Given the description of an element on the screen output the (x, y) to click on. 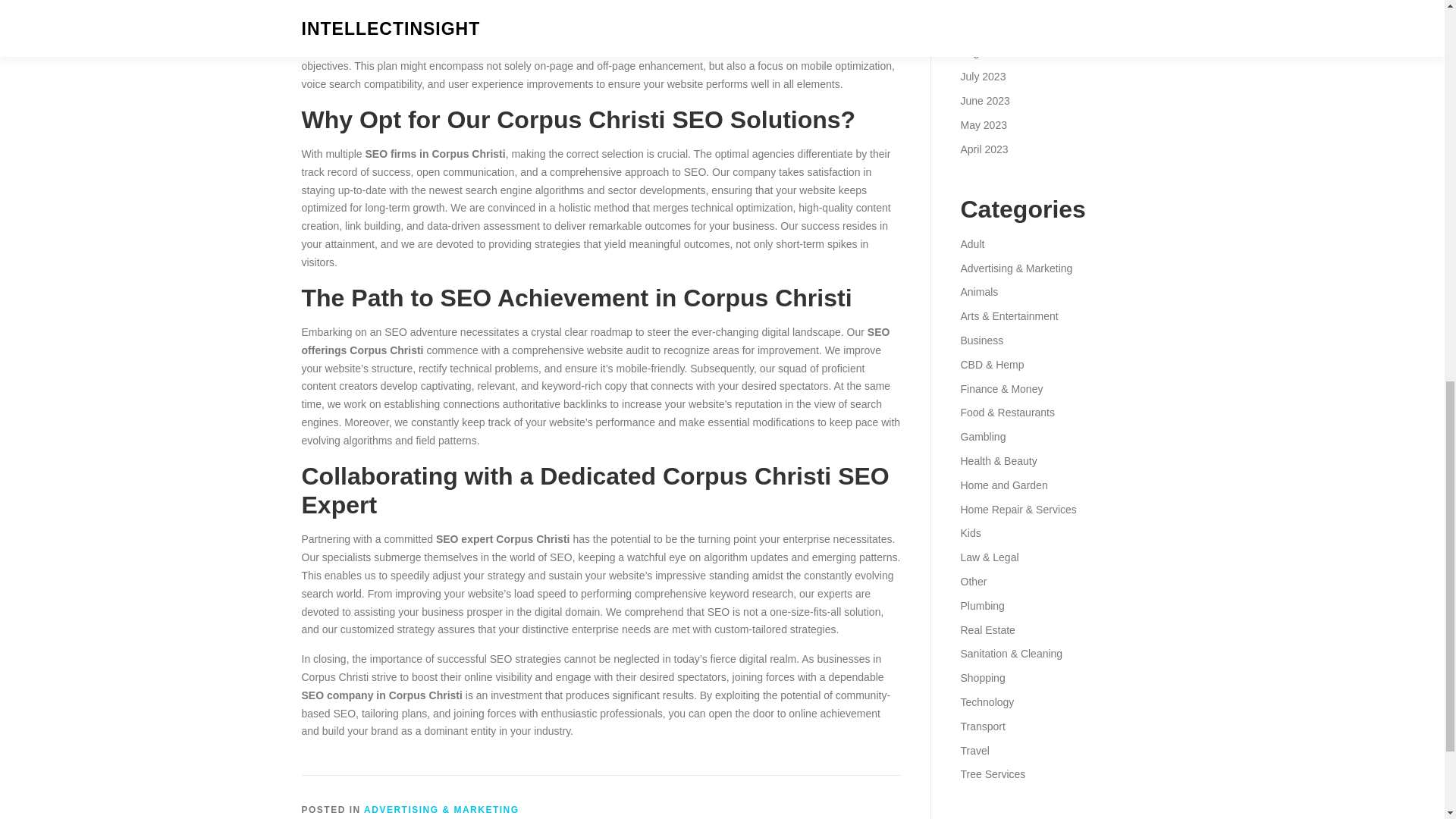
May 2023 (982, 124)
Business (981, 340)
September 2023 (999, 28)
October 2023 (992, 5)
Animals (978, 291)
April 2023 (983, 149)
Adult (971, 244)
July 2023 (982, 76)
August 2023 (989, 51)
Gambling (982, 436)
June 2023 (984, 101)
